Given the description of an element on the screen output the (x, y) to click on. 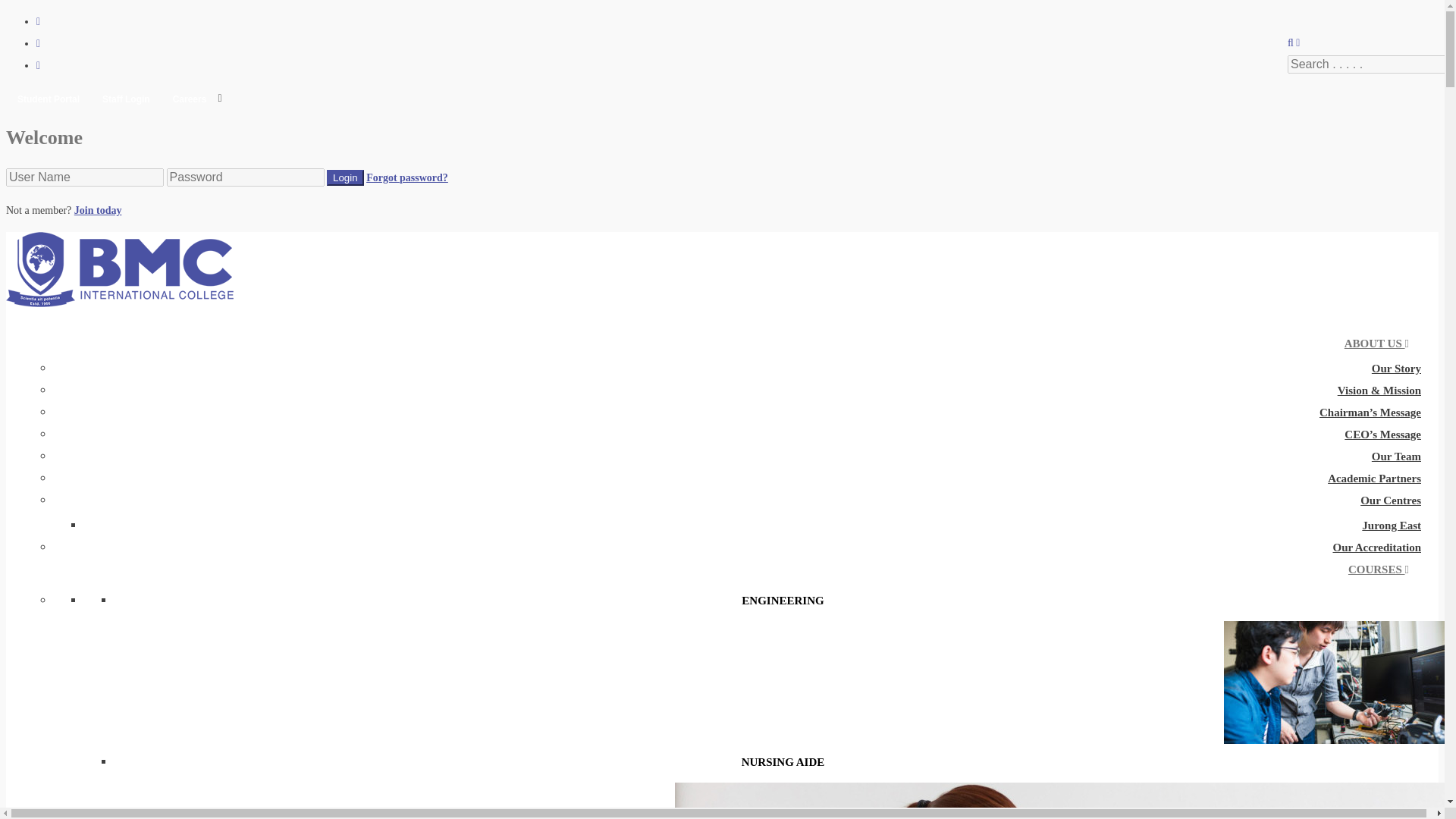
Our Centres (1390, 500)
Jurong East (1391, 525)
Academic Partners (1374, 478)
Forgot password? (407, 177)
Staff Login (125, 98)
Careers (189, 98)
Our Story (1396, 368)
Our Accreditation (1376, 547)
Join today (98, 210)
Our Team (1396, 456)
